Given the description of an element on the screen output the (x, y) to click on. 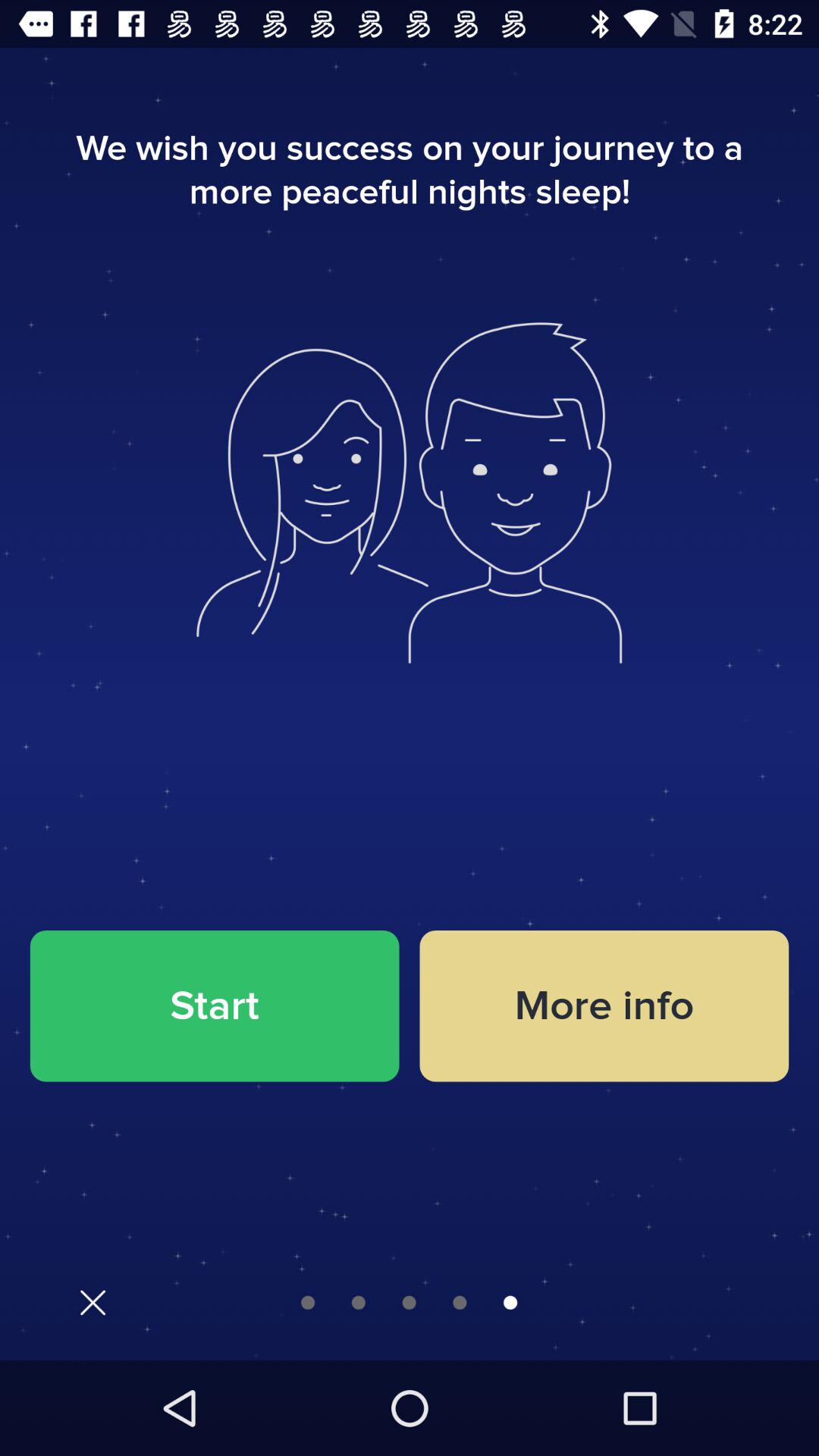
close the window (92, 1302)
